Given the description of an element on the screen output the (x, y) to click on. 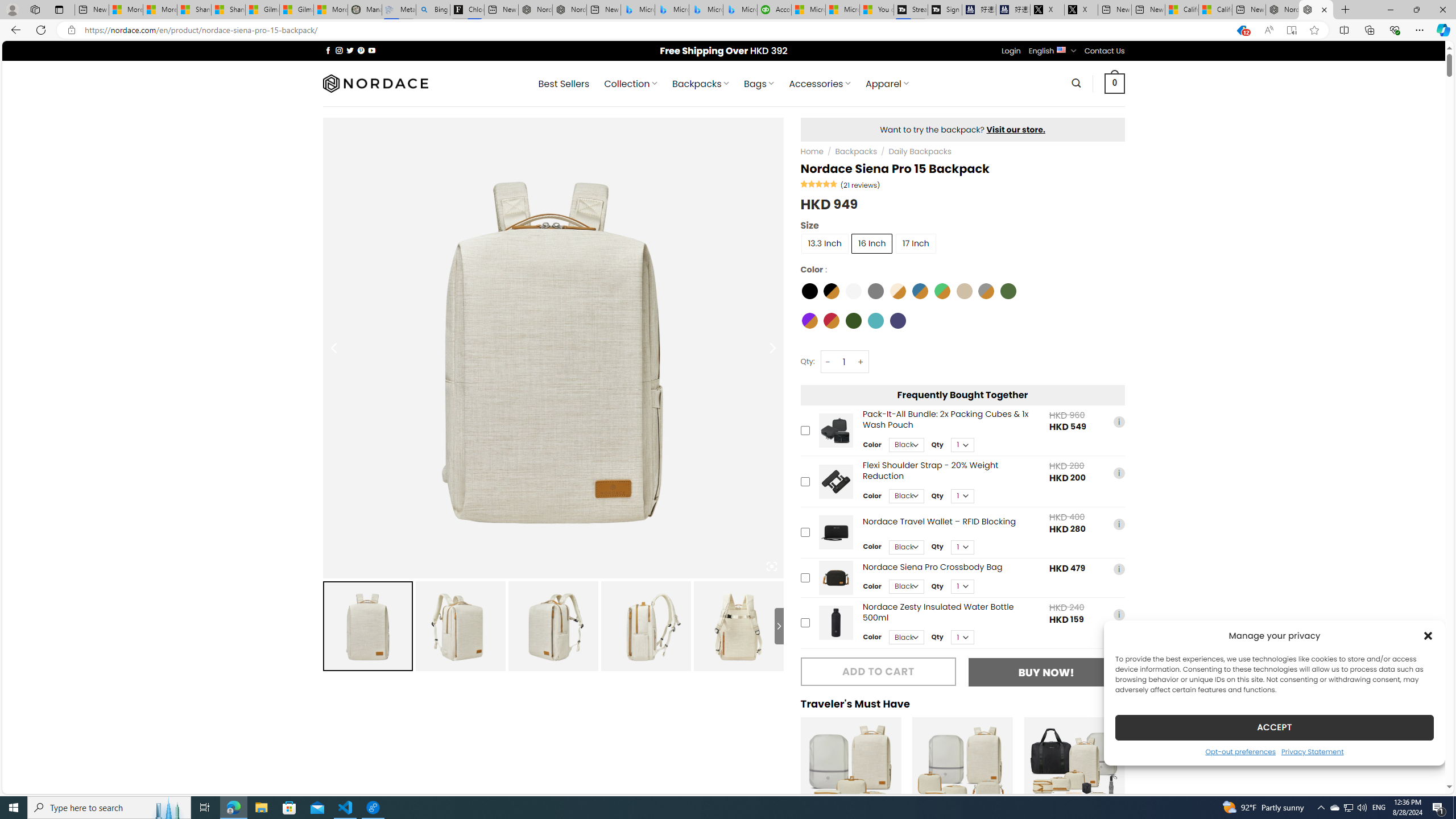
Enter Immersive Reader (F9) (1291, 29)
Nordace Siena Pro 15 Backpack (738, 625)
New Tab (1346, 9)
Bing Real Estate - Home sales and rental listings (432, 9)
Follow on YouTube (371, 49)
Microsoft Start Sports (807, 9)
 0  (1115, 83)
Nordace - #1 Japanese Best-Seller - Siena Smart Backpack (569, 9)
Tab actions menu (58, 9)
Manatee Mortality Statistics | FWC (365, 9)
Personal Profile (12, 9)
Workspaces (34, 9)
